Given the description of an element on the screen output the (x, y) to click on. 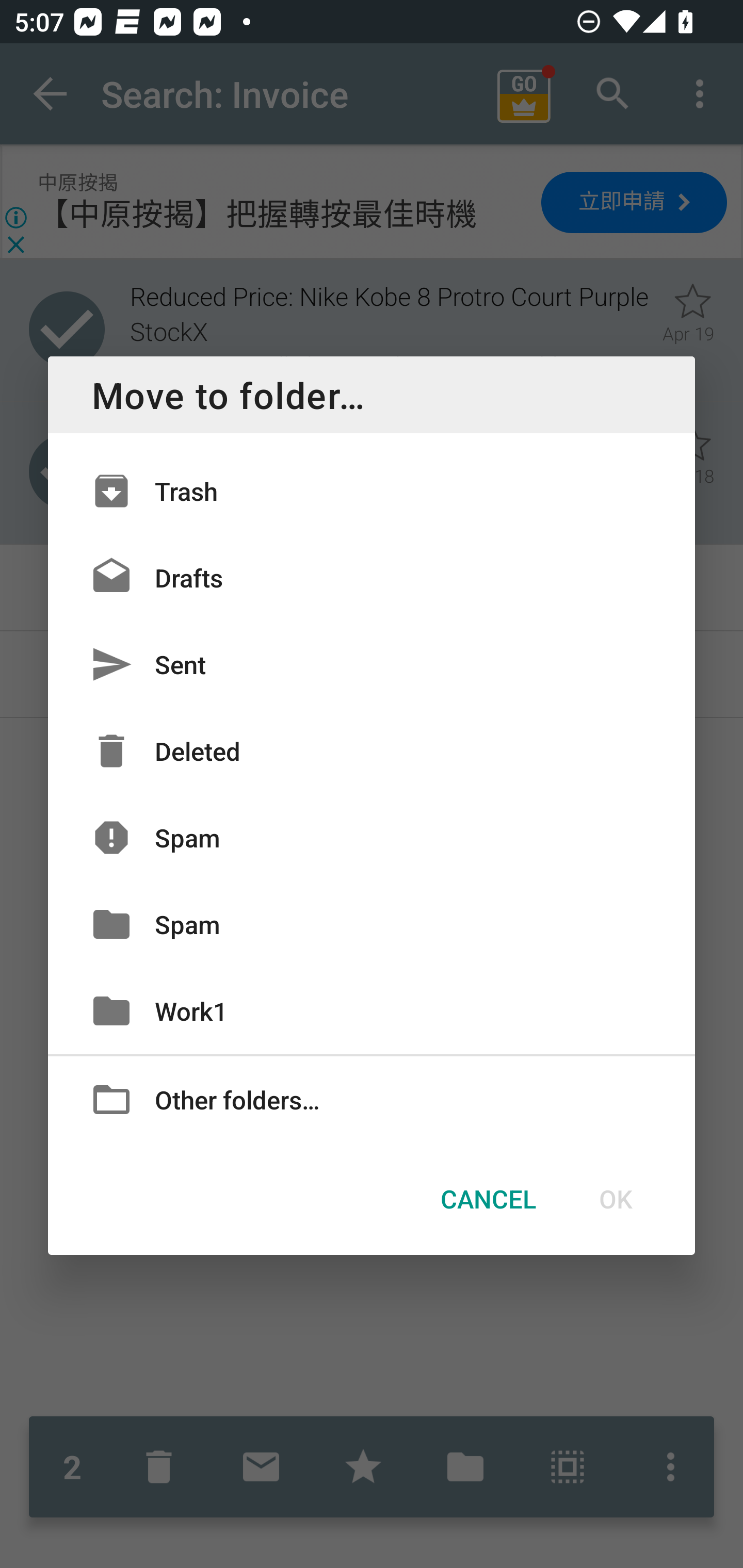
Trash (371, 491)
Drafts (371, 577)
Sent (371, 663)
Deleted (371, 750)
Spam (371, 837)
Spam (371, 924)
Work1 (371, 1010)
Other folders… (371, 1098)
CANCEL (488, 1199)
OK (615, 1199)
